Given the description of an element on the screen output the (x, y) to click on. 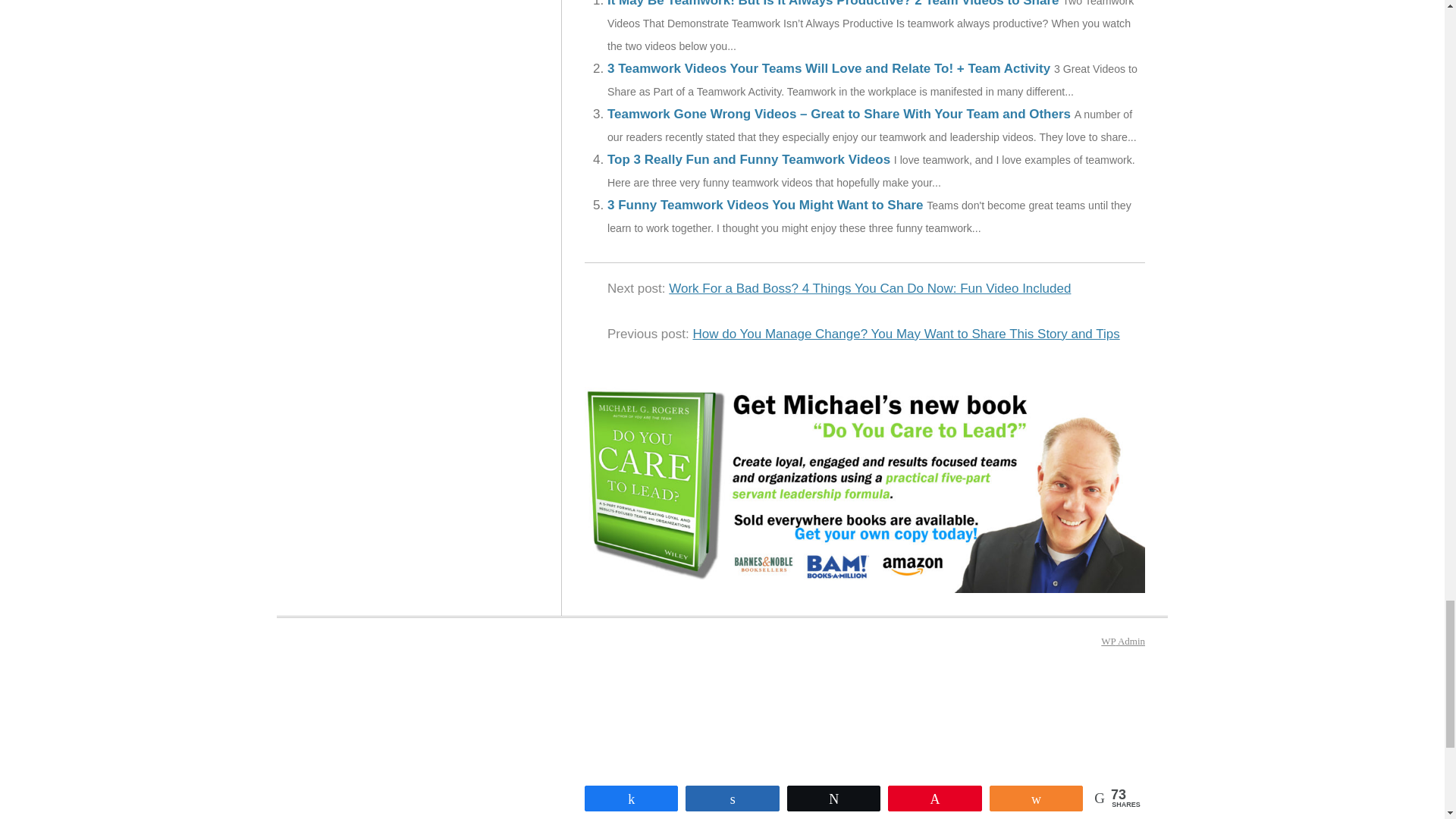
Top 3 Really Fun and Funny Teamwork Videos (748, 159)
3 Funny Teamwork Videos You Might Want to Share (765, 205)
